Given the description of an element on the screen output the (x, y) to click on. 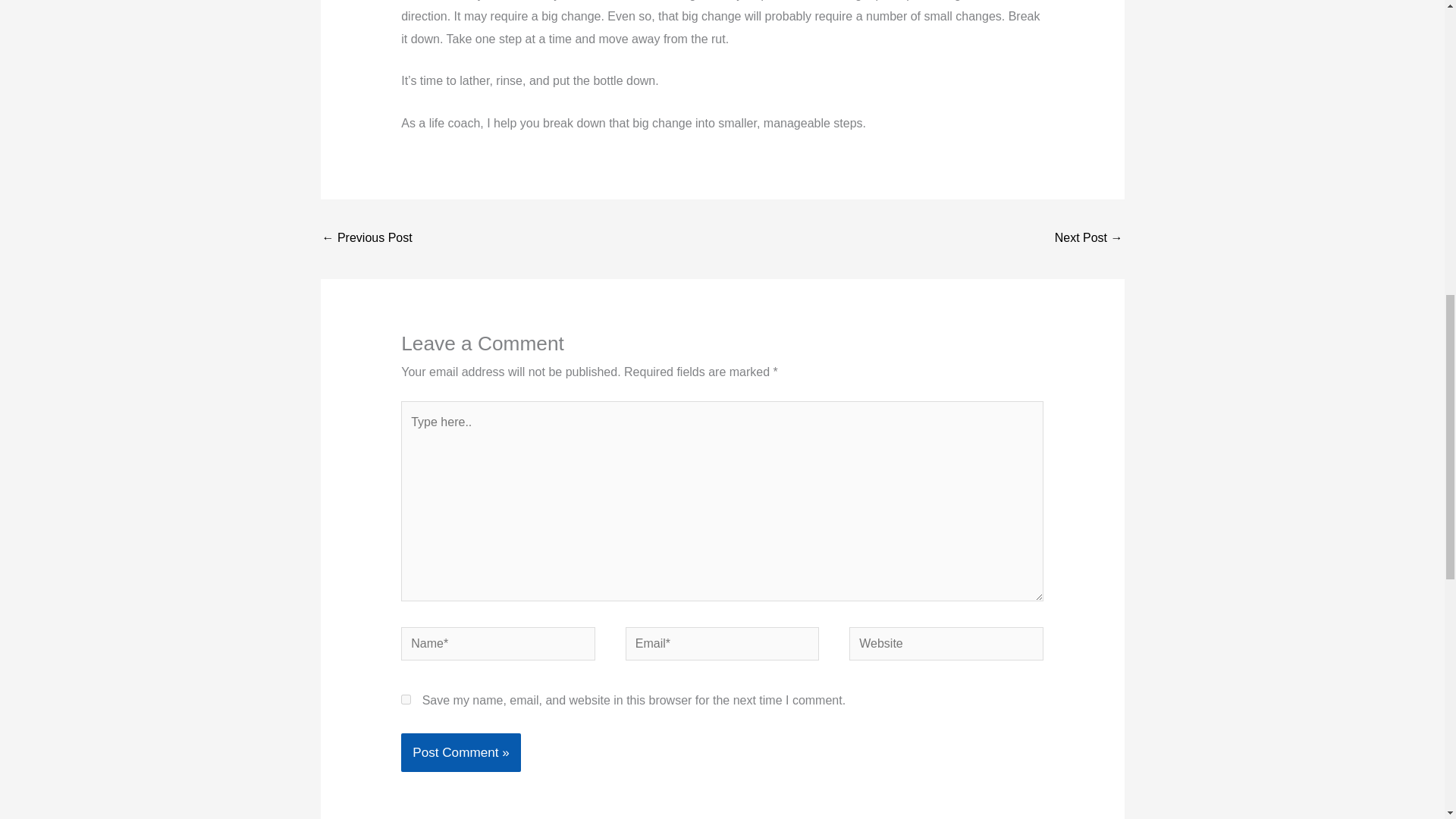
yes (405, 699)
Stripping (1088, 239)
Make Your Dreams Come True (366, 239)
